Given the description of an element on the screen output the (x, y) to click on. 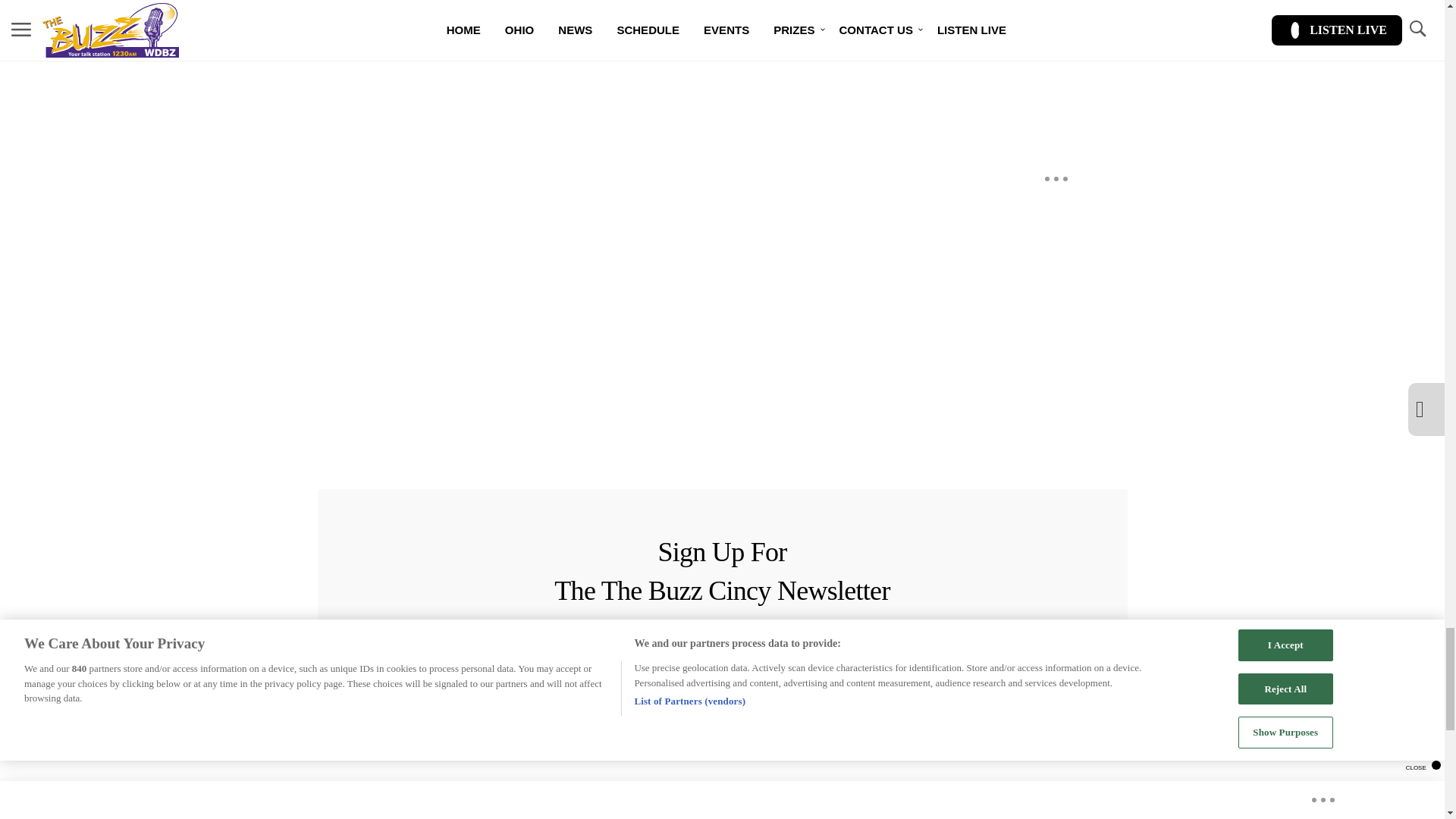
Vuukle Comments Widget (585, 100)
